Given the description of an element on the screen output the (x, y) to click on. 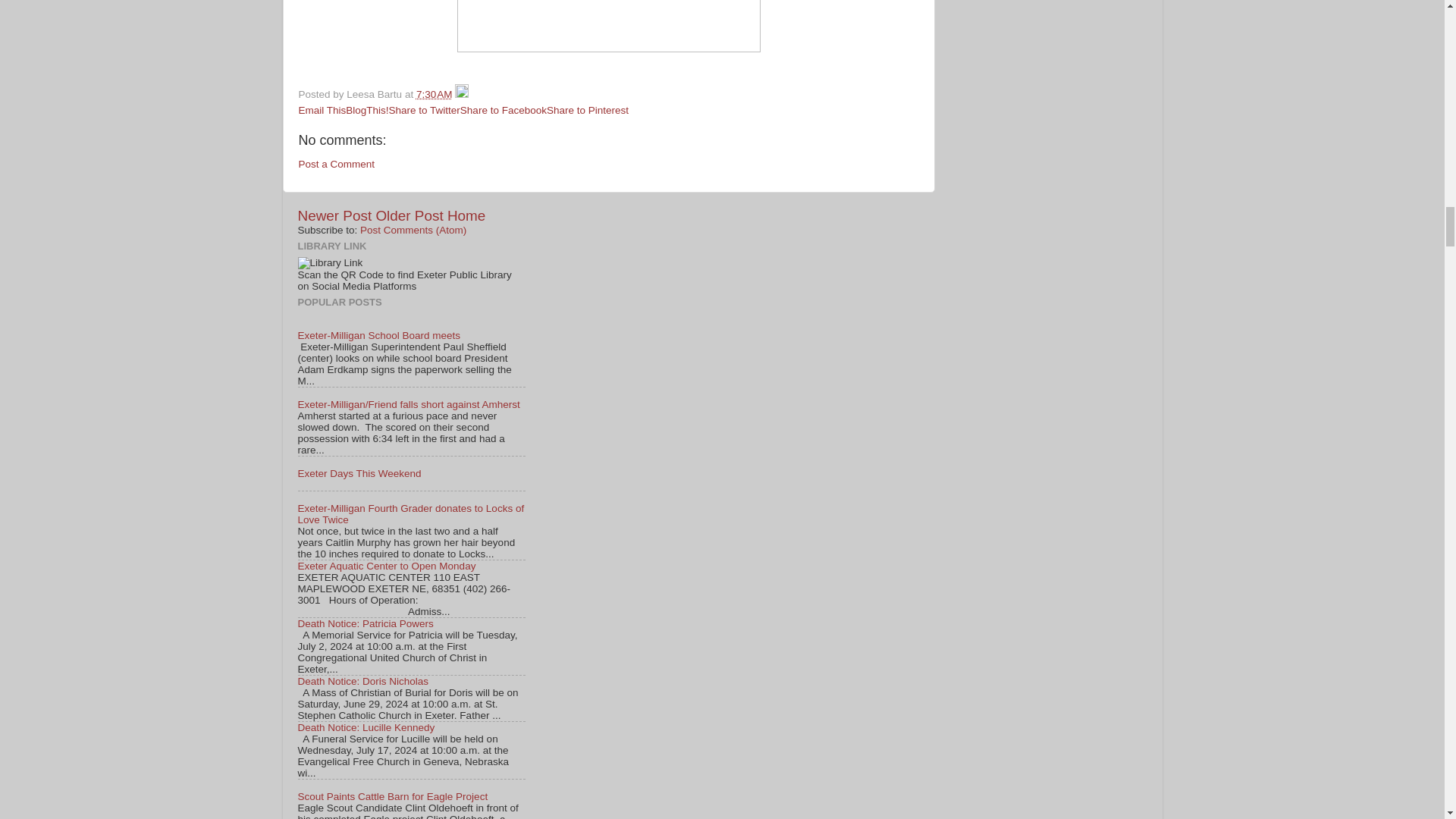
Share to Facebook (503, 110)
BlogThis! (367, 110)
Newer Post (334, 215)
Share to Pinterest (587, 110)
Share to Pinterest (587, 110)
Newer Post (334, 215)
Older Post (408, 215)
Share to Twitter (424, 110)
Post a Comment (336, 163)
Share to Twitter (424, 110)
Share to Facebook (503, 110)
BlogThis! (367, 110)
Email This (322, 110)
Edit Post (461, 93)
